Given the description of an element on the screen output the (x, y) to click on. 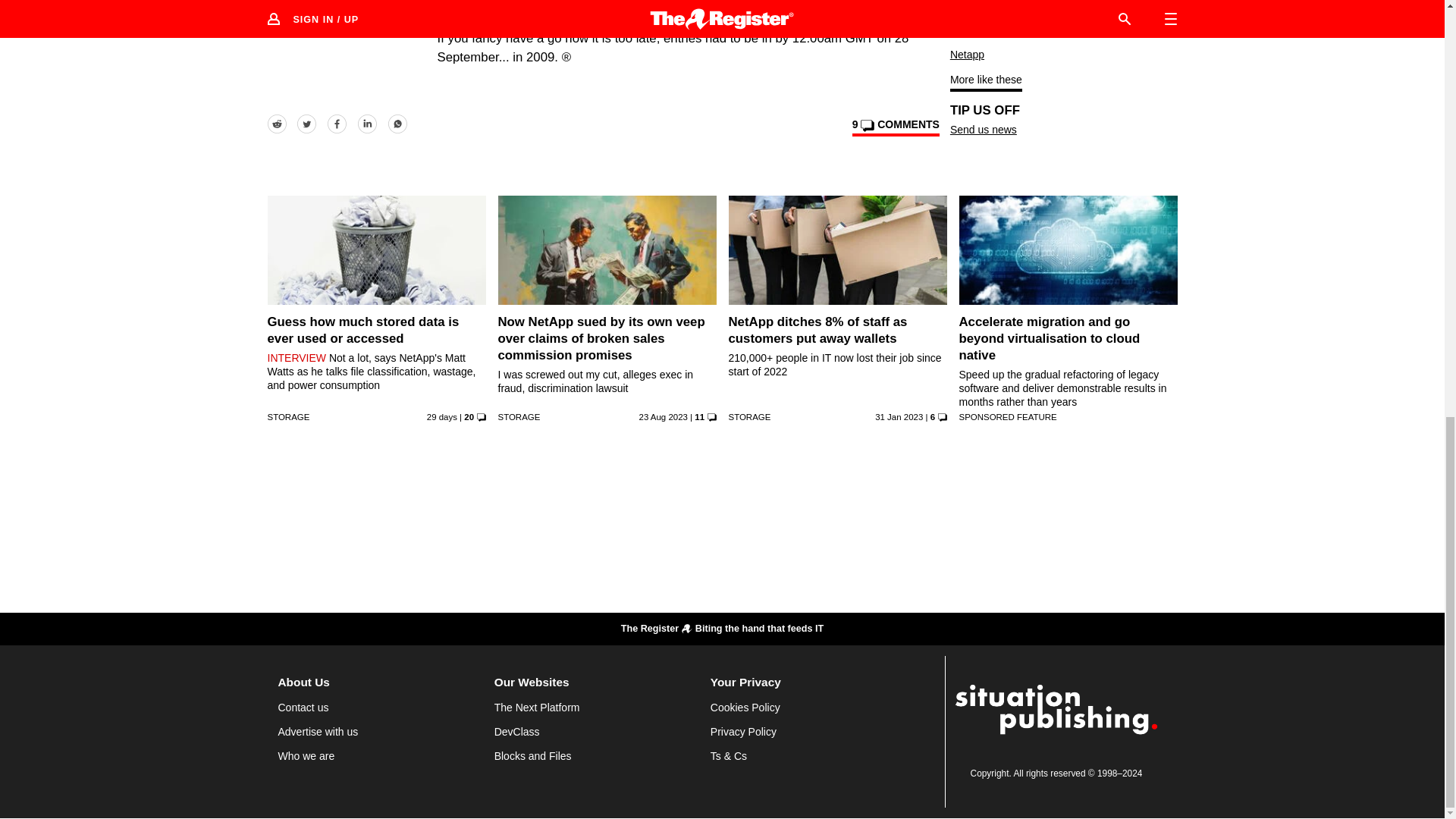
View comments on this article (895, 126)
23 Aug 2023 20:48 (663, 416)
31 Jan 2023 15:15 (899, 416)
21 Jun 2024 10:26 (441, 416)
